Given the description of an element on the screen output the (x, y) to click on. 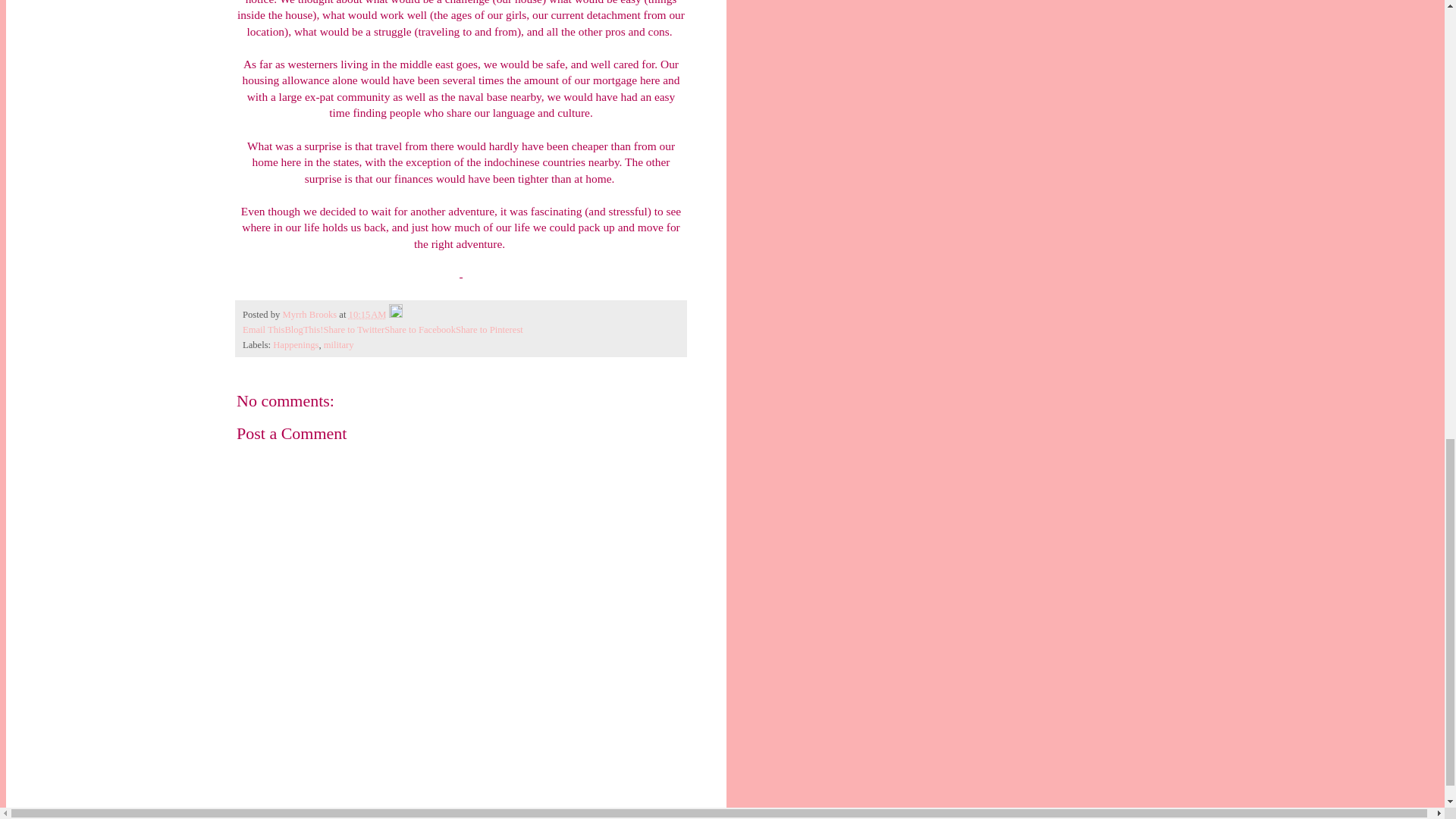
BlogThis! (303, 329)
military (338, 344)
Share to Facebook (419, 329)
Email This (263, 329)
Email This (263, 329)
BlogThis! (303, 329)
author profile (310, 314)
permanent link (368, 314)
Happenings (295, 344)
